Given the description of an element on the screen output the (x, y) to click on. 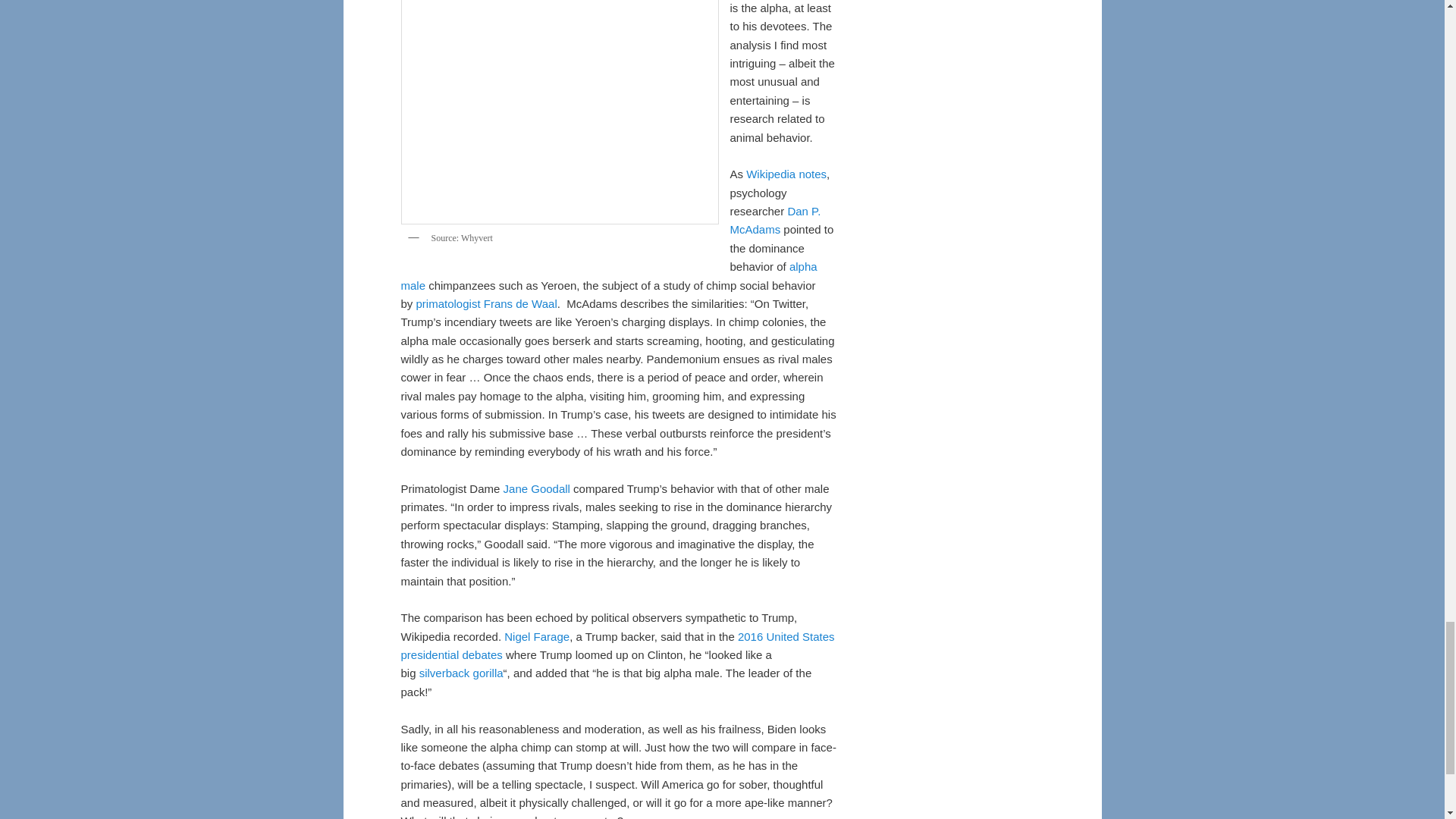
Wikipedia notes (786, 173)
Frans de Waal (520, 303)
Nigel Farage (536, 635)
alpha male (608, 275)
primatologist (448, 303)
Jane Goodall (536, 488)
silverback gorilla (461, 672)
2016 United States presidential debates (617, 644)
Dan P. McAdams (775, 219)
